Given the description of an element on the screen output the (x, y) to click on. 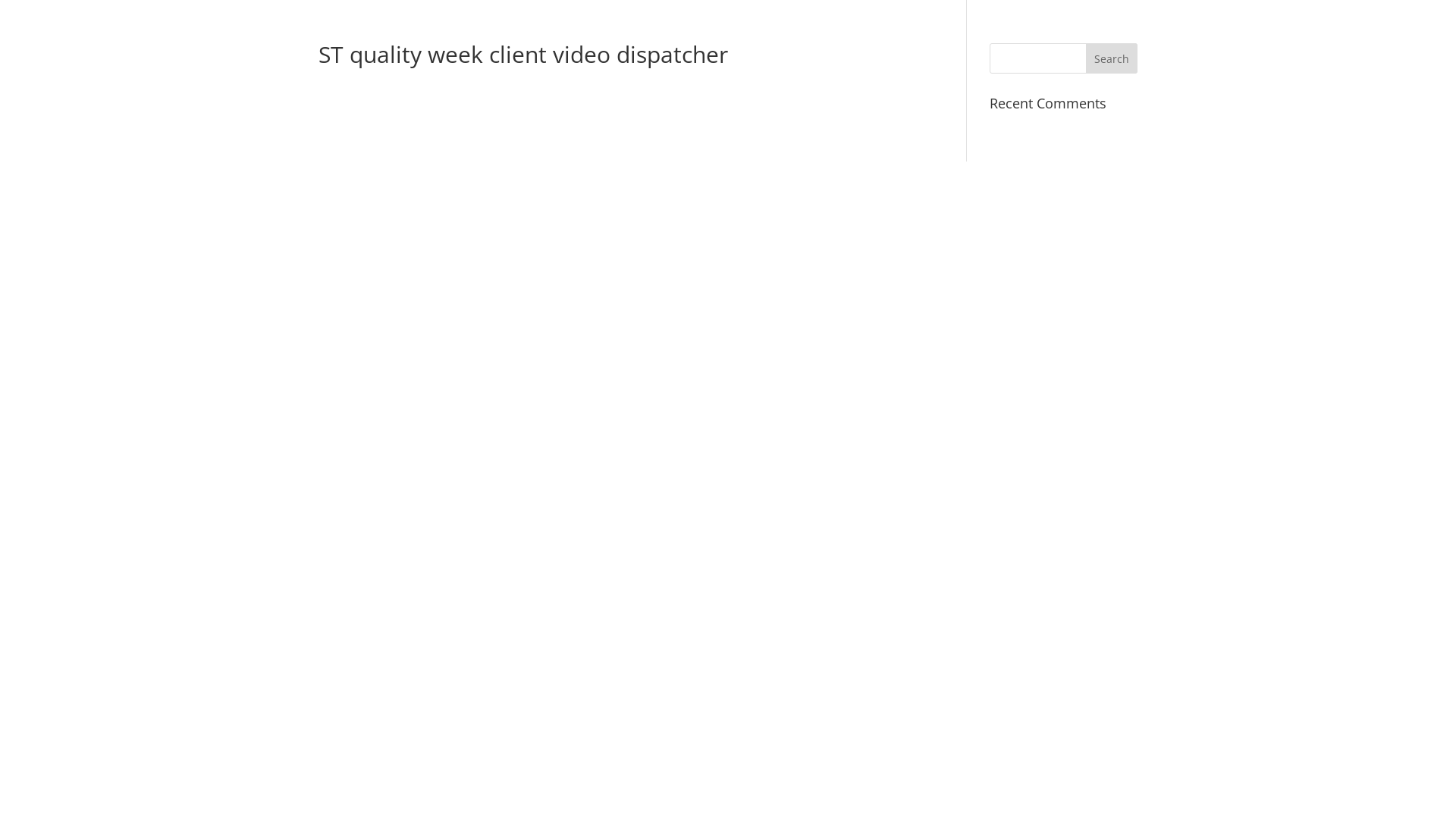
Search Element type: text (1111, 58)
